Given the description of an element on the screen output the (x, y) to click on. 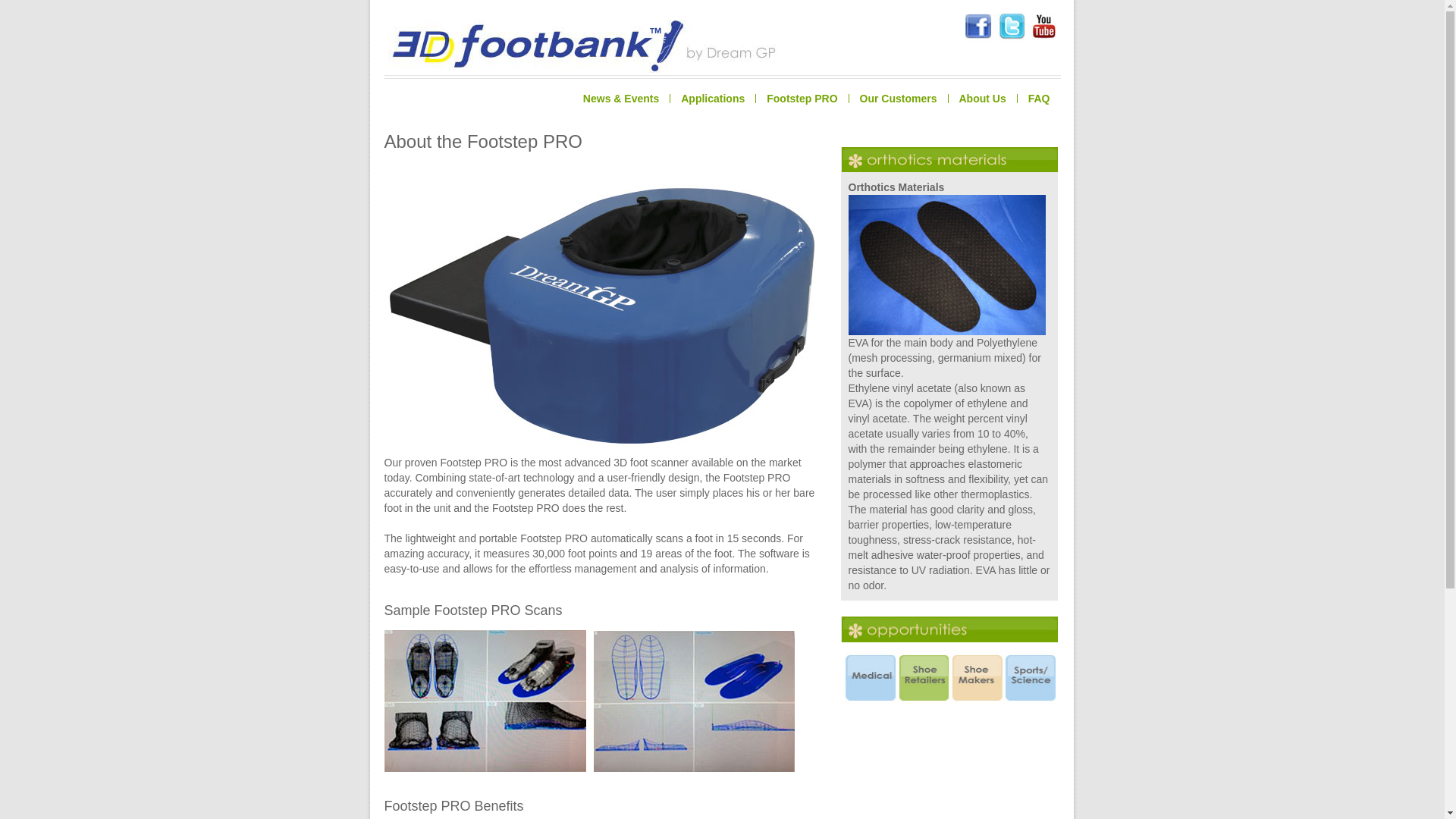
About Us Element type: text (981, 98)
News & Events Element type: text (620, 98)
Applications Element type: text (712, 98)
Our Customers Element type: text (897, 98)
Footstep PRO Element type: text (801, 98)
FAQ Element type: text (1038, 98)
